Given the description of an element on the screen output the (x, y) to click on. 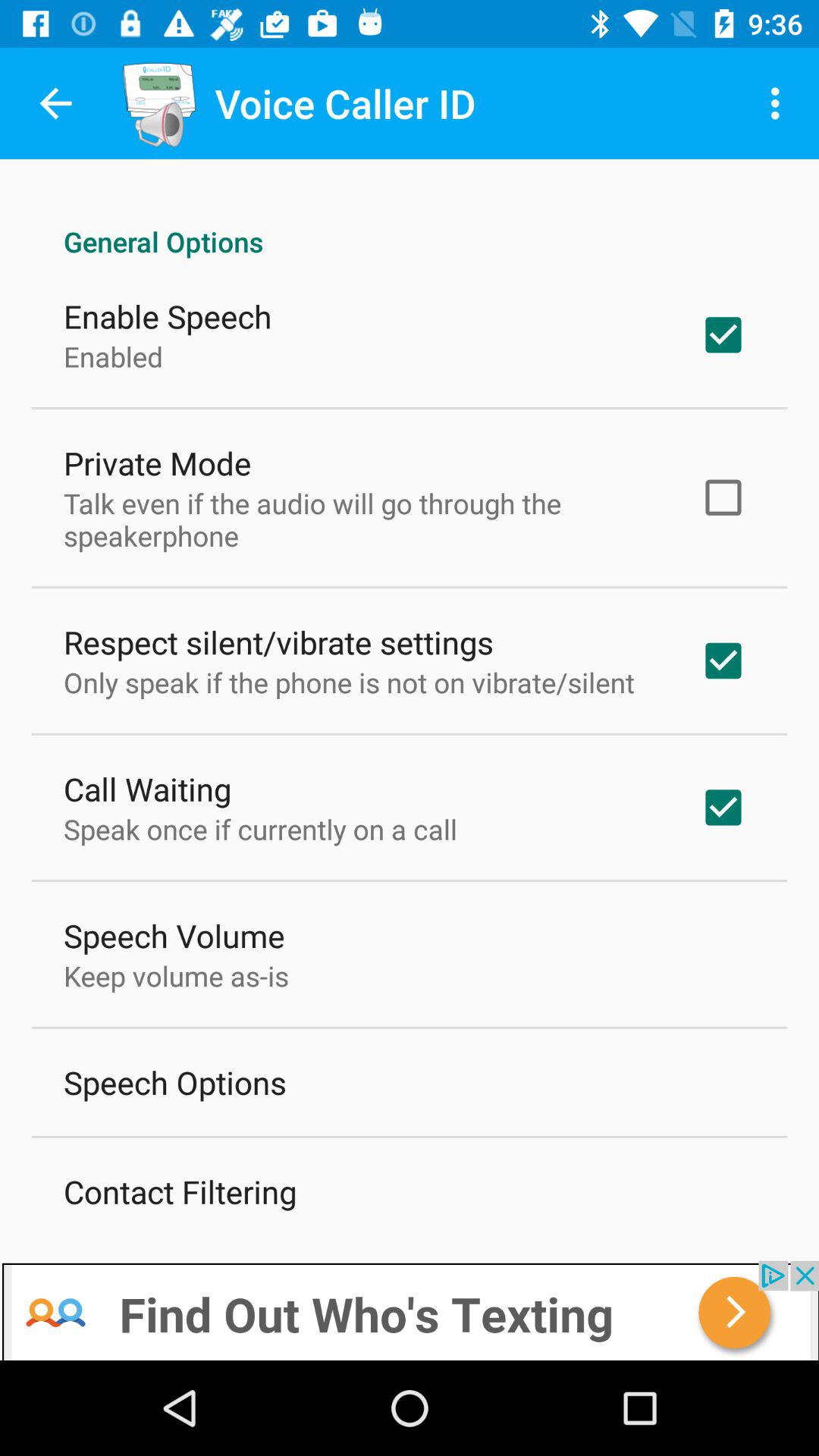
advertisement (409, 1310)
